Given the description of an element on the screen output the (x, y) to click on. 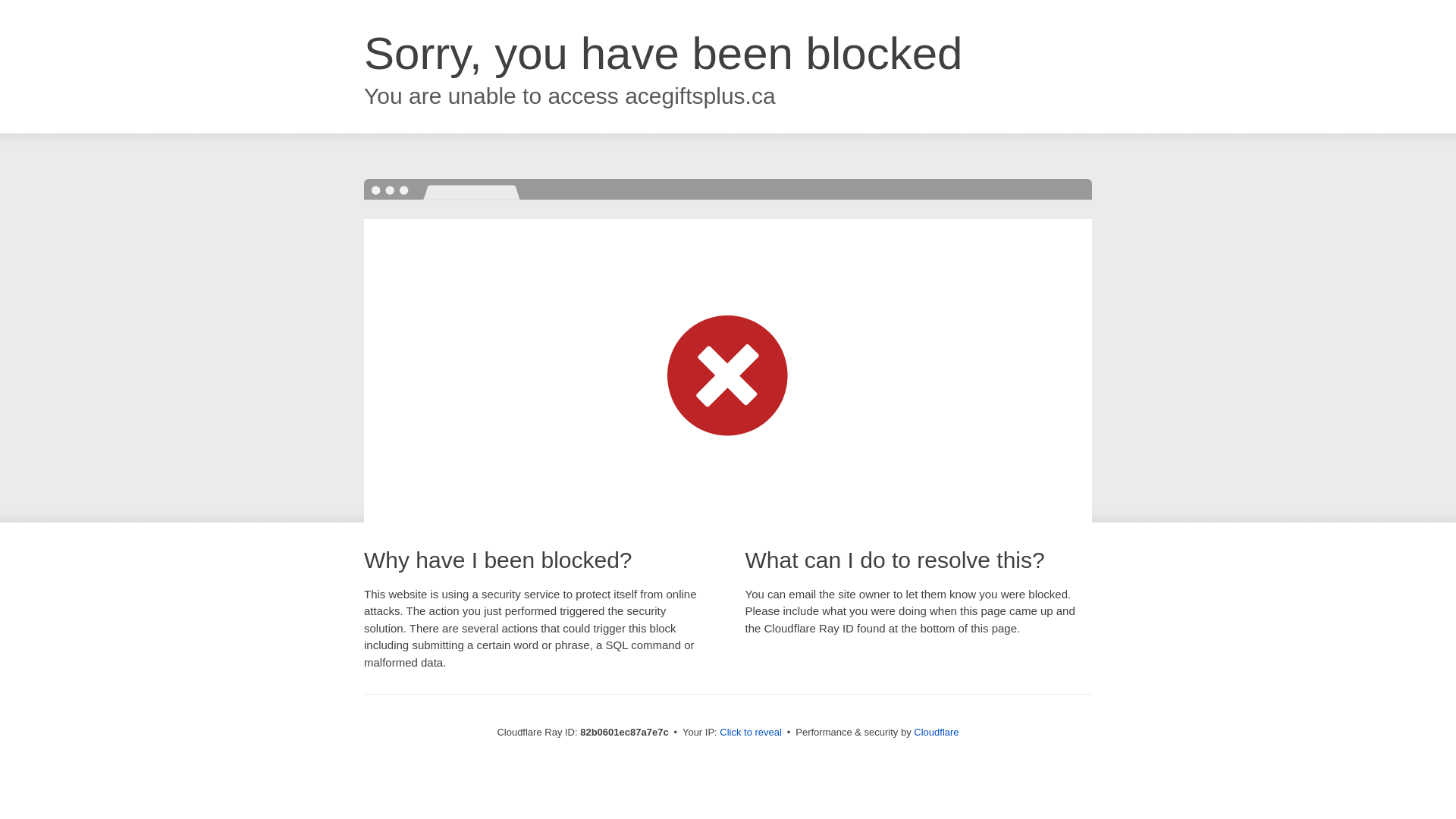
Cloudflare Element type: text (935, 731)
Click to reveal Element type: text (750, 732)
